Given the description of an element on the screen output the (x, y) to click on. 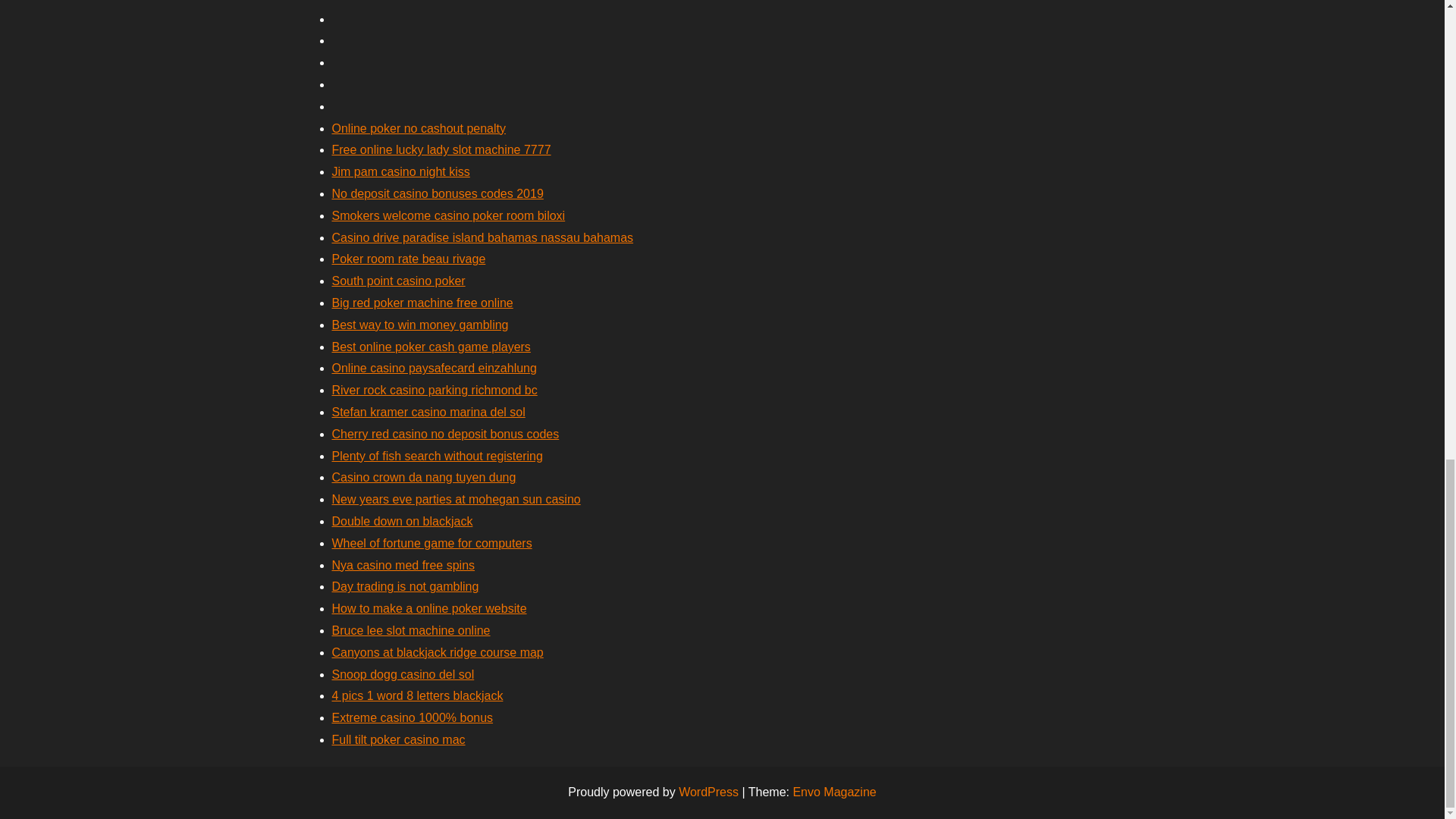
River rock casino parking richmond bc (434, 390)
Jim pam casino night kiss (400, 171)
Casino crown da nang tuyen dung (423, 477)
Poker room rate beau rivage (408, 258)
No deposit casino bonuses codes 2019 (437, 193)
Free online lucky lady slot machine 7777 (441, 149)
Smokers welcome casino poker room biloxi (448, 215)
Big red poker machine free online (422, 302)
Double down on blackjack (402, 521)
How to make a online poker website (429, 608)
Nya casino med free spins (403, 564)
Snoop dogg casino del sol (402, 674)
Day trading is not gambling (405, 585)
Online casino paysafecard einzahlung (434, 367)
Best online poker cash game players (431, 346)
